Given the description of an element on the screen output the (x, y) to click on. 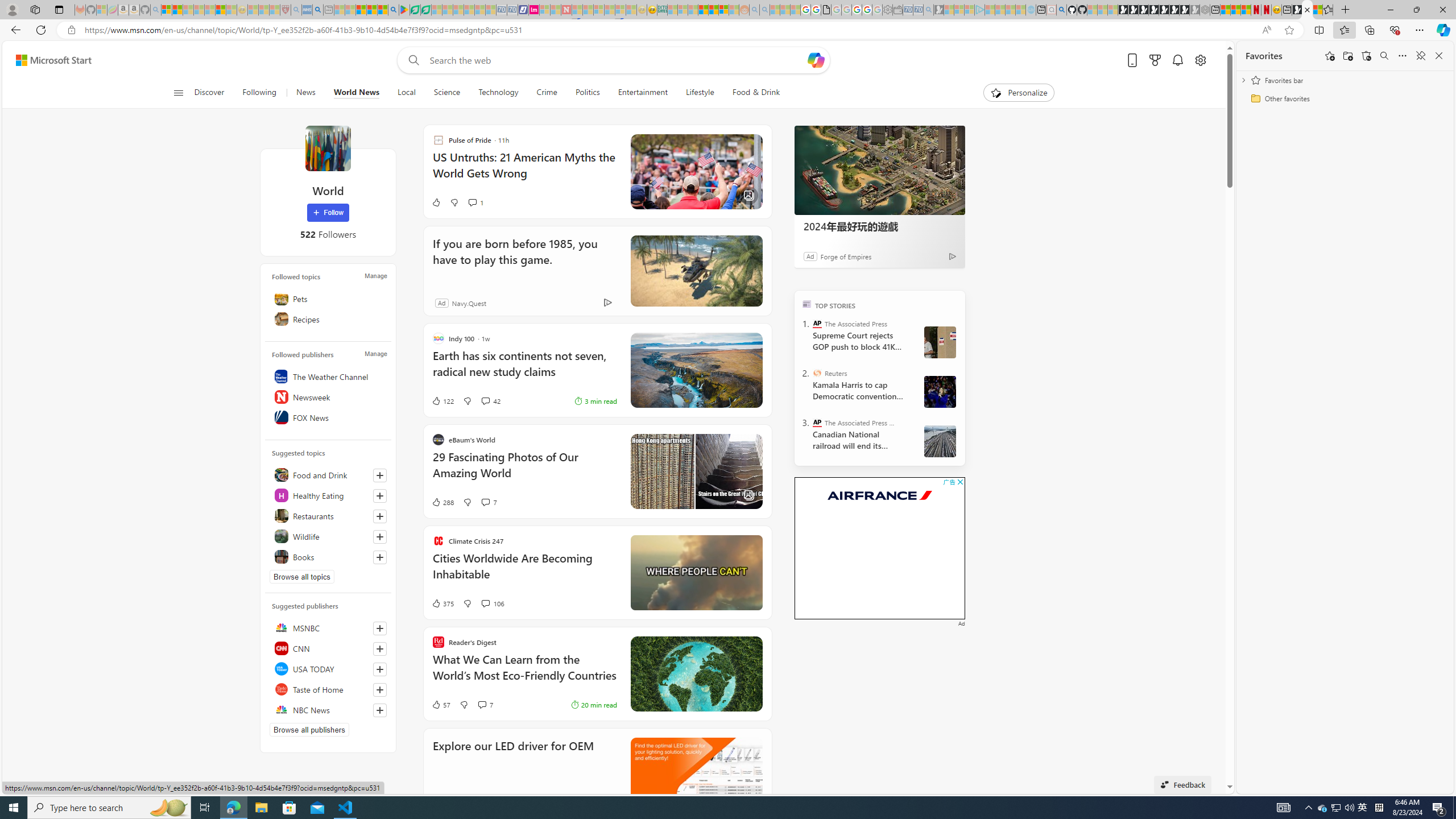
World News (356, 92)
View comments 42 Comment (490, 400)
 Canada Railroads Unions (940, 441)
Healthy Eating (327, 495)
FOX News (327, 417)
DITOGAMES AG Imprint (662, 9)
View comments 1 Comment (475, 202)
Navy.Quest (468, 302)
